Given the description of an element on the screen output the (x, y) to click on. 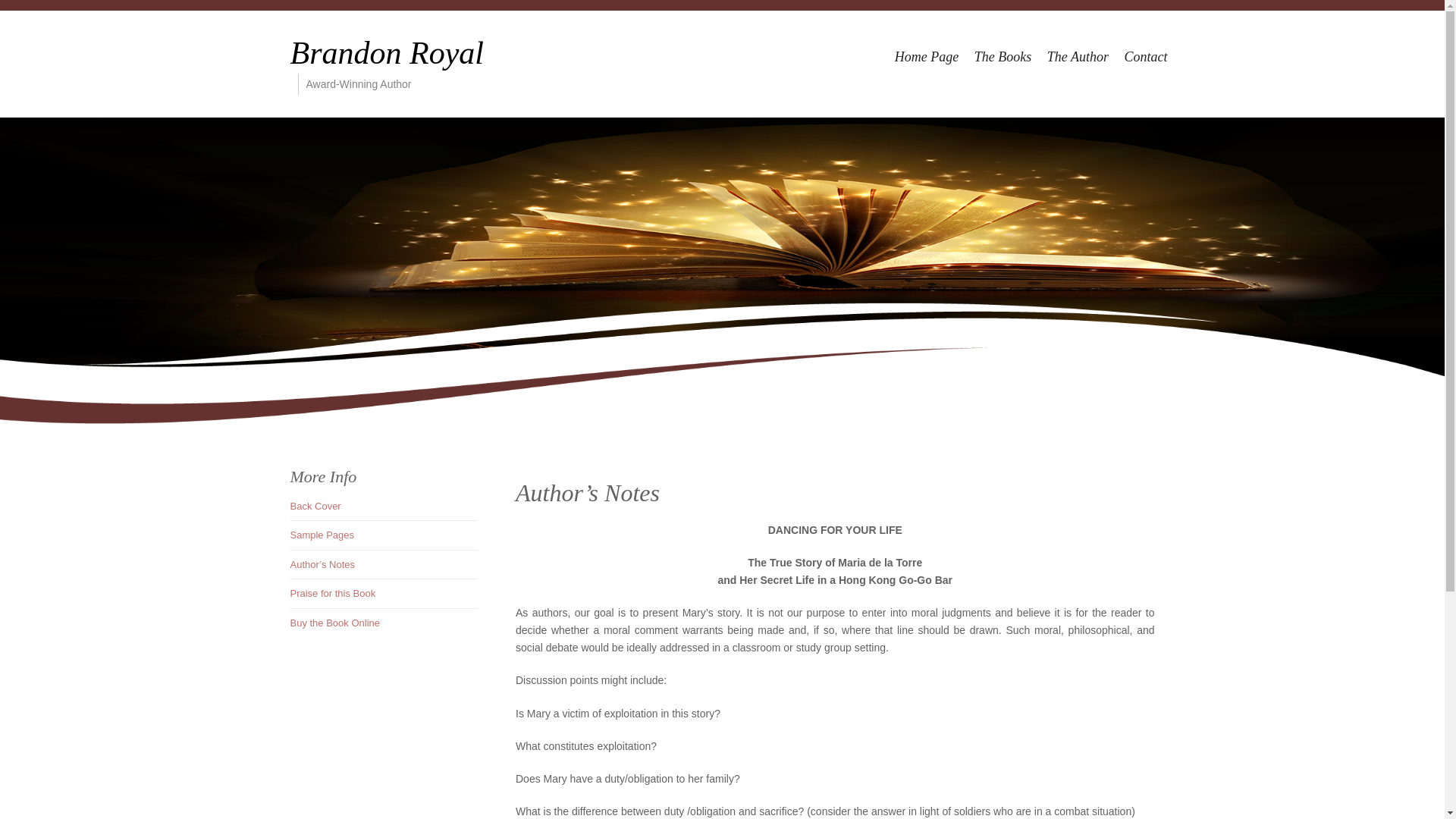
Buy the Book Online (334, 622)
Praise for this Book (332, 593)
The Books (1003, 56)
Home Page (925, 56)
Contact (1145, 56)
The Author (1078, 56)
Sample Pages (321, 534)
Back Cover (314, 505)
Brandon Royal (386, 53)
